Given the description of an element on the screen output the (x, y) to click on. 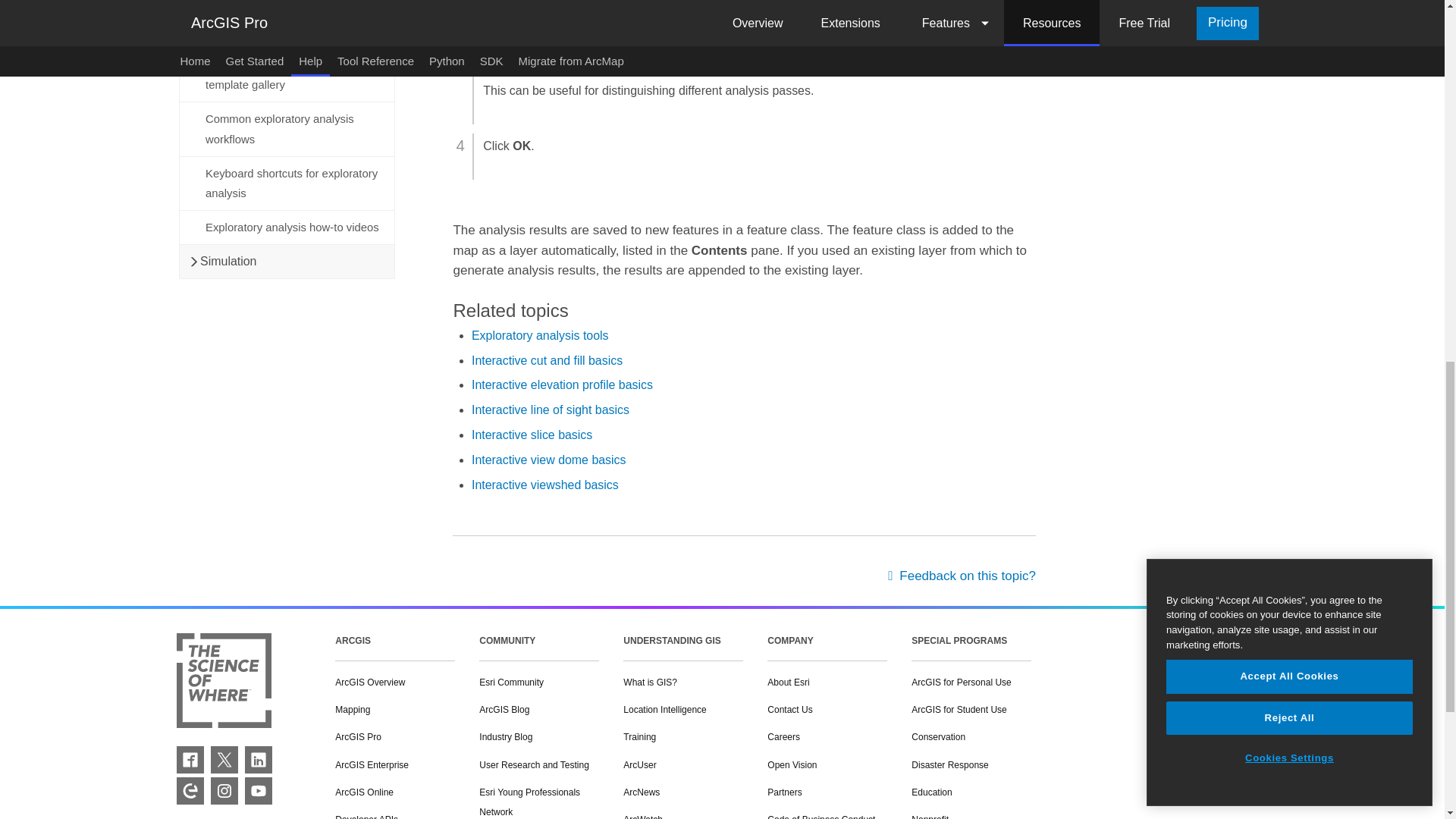
Twitter (224, 759)
Facebook (189, 759)
More about Esri and the Science of Where (223, 683)
Instagram (224, 790)
LinkedIn (257, 759)
YouTube (257, 790)
Esri Community (189, 790)
